Given the description of an element on the screen output the (x, y) to click on. 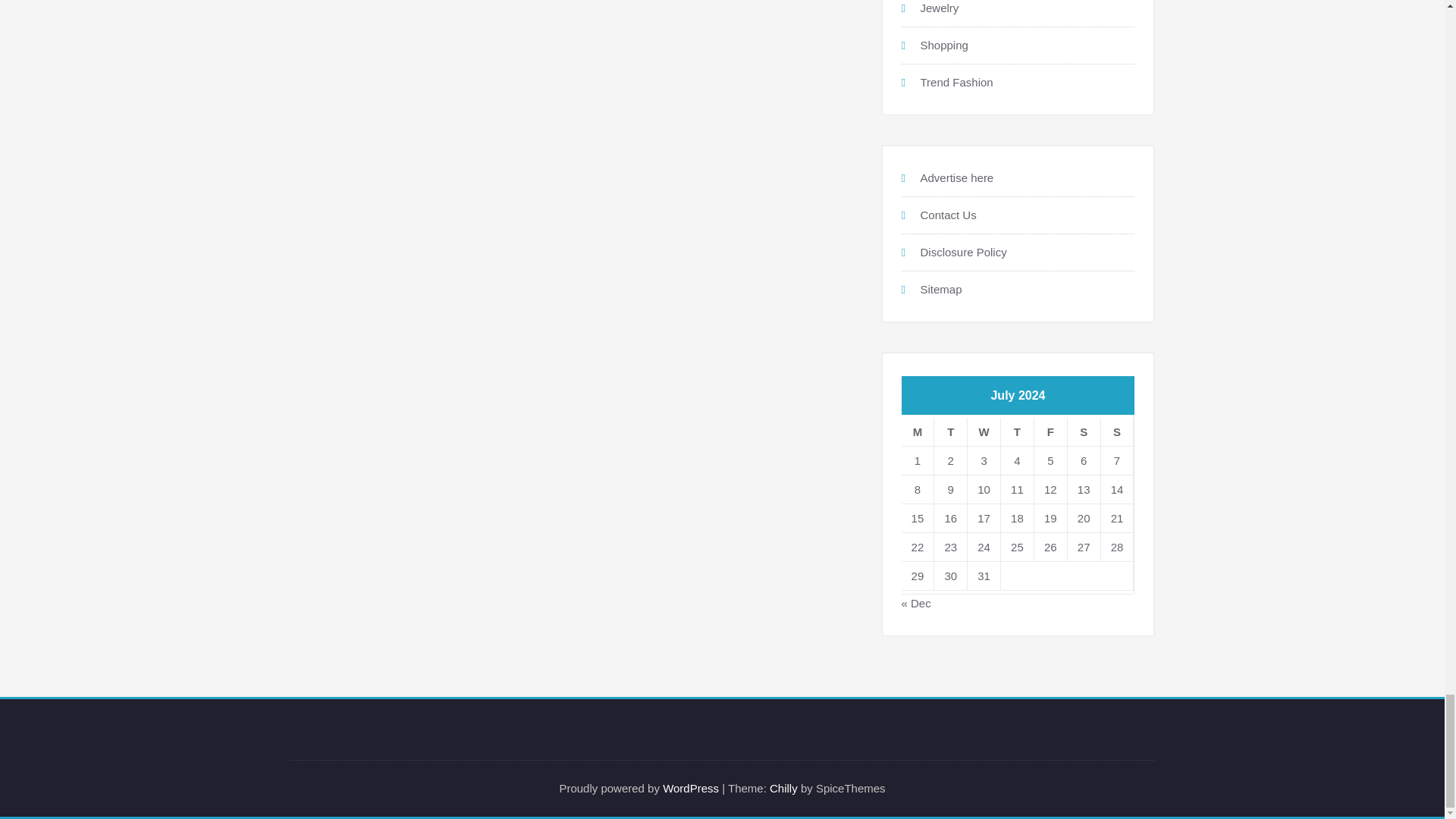
Friday (1050, 431)
Wednesday (984, 431)
Tuesday (951, 431)
Saturday (1083, 431)
Thursday (1017, 431)
Sunday (1117, 431)
Monday (917, 431)
